Given the description of an element on the screen output the (x, y) to click on. 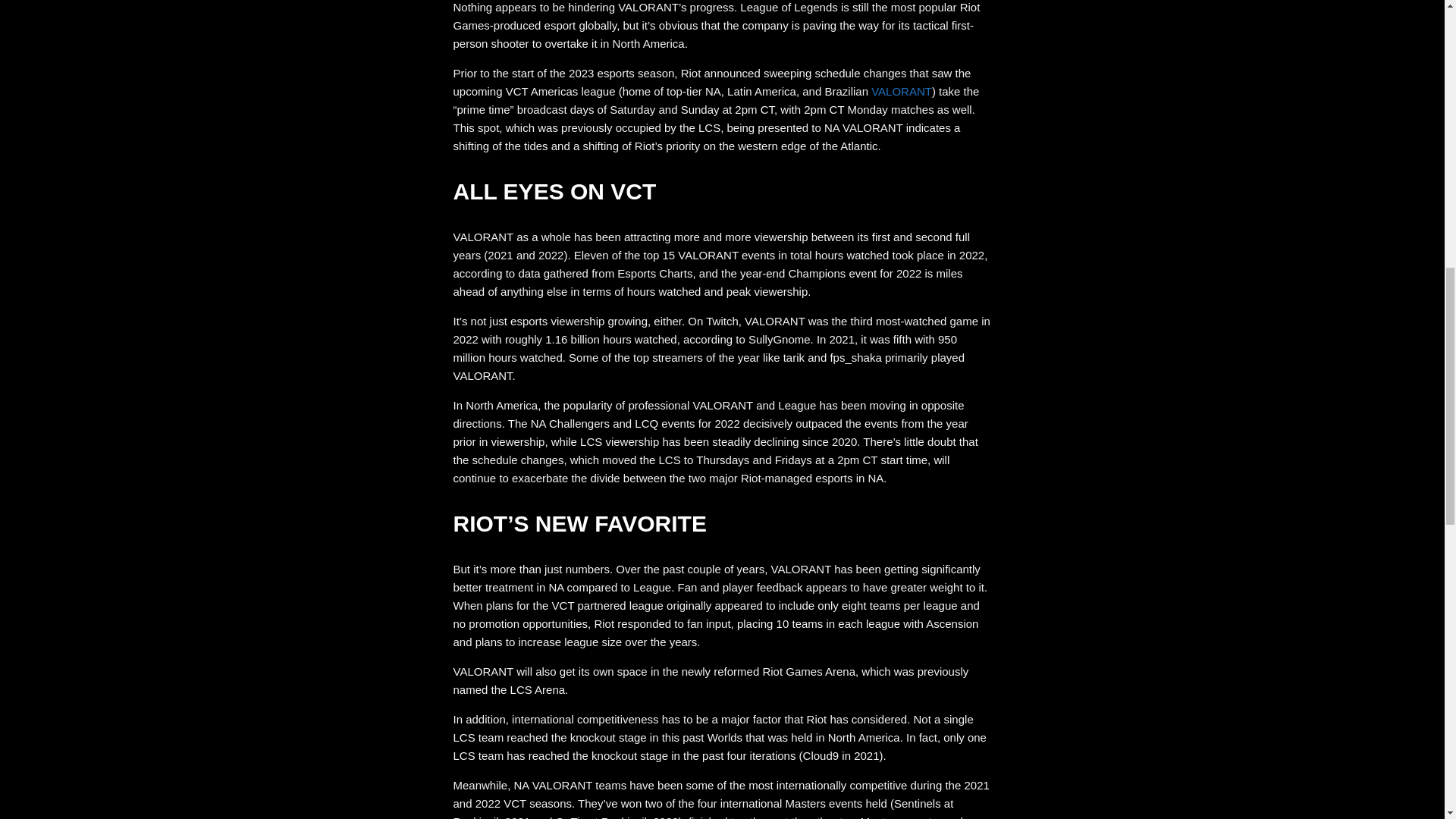
VALORANT (900, 91)
